Given the description of an element on the screen output the (x, y) to click on. 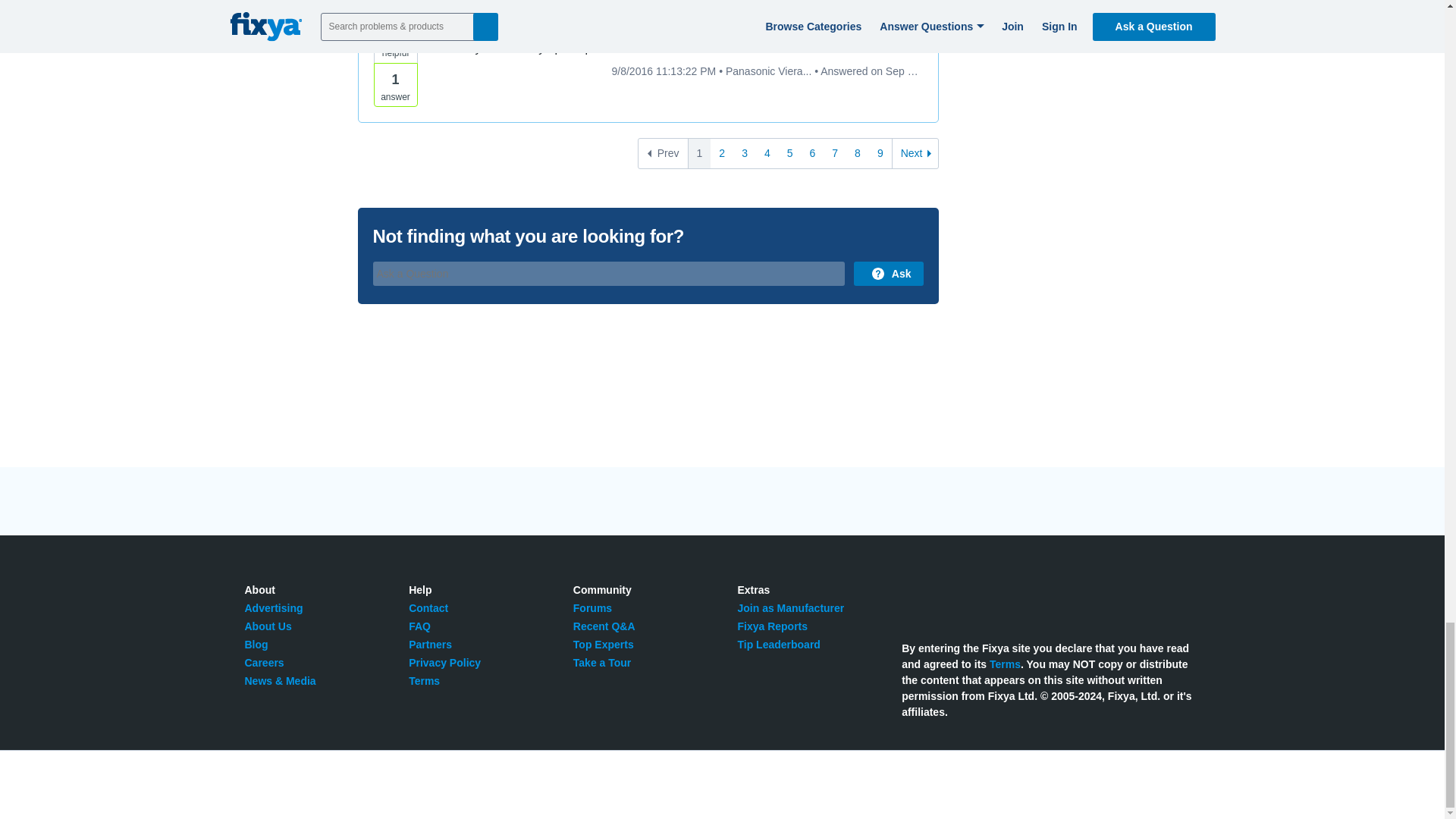
Ask (888, 273)
